Given the description of an element on the screen output the (x, y) to click on. 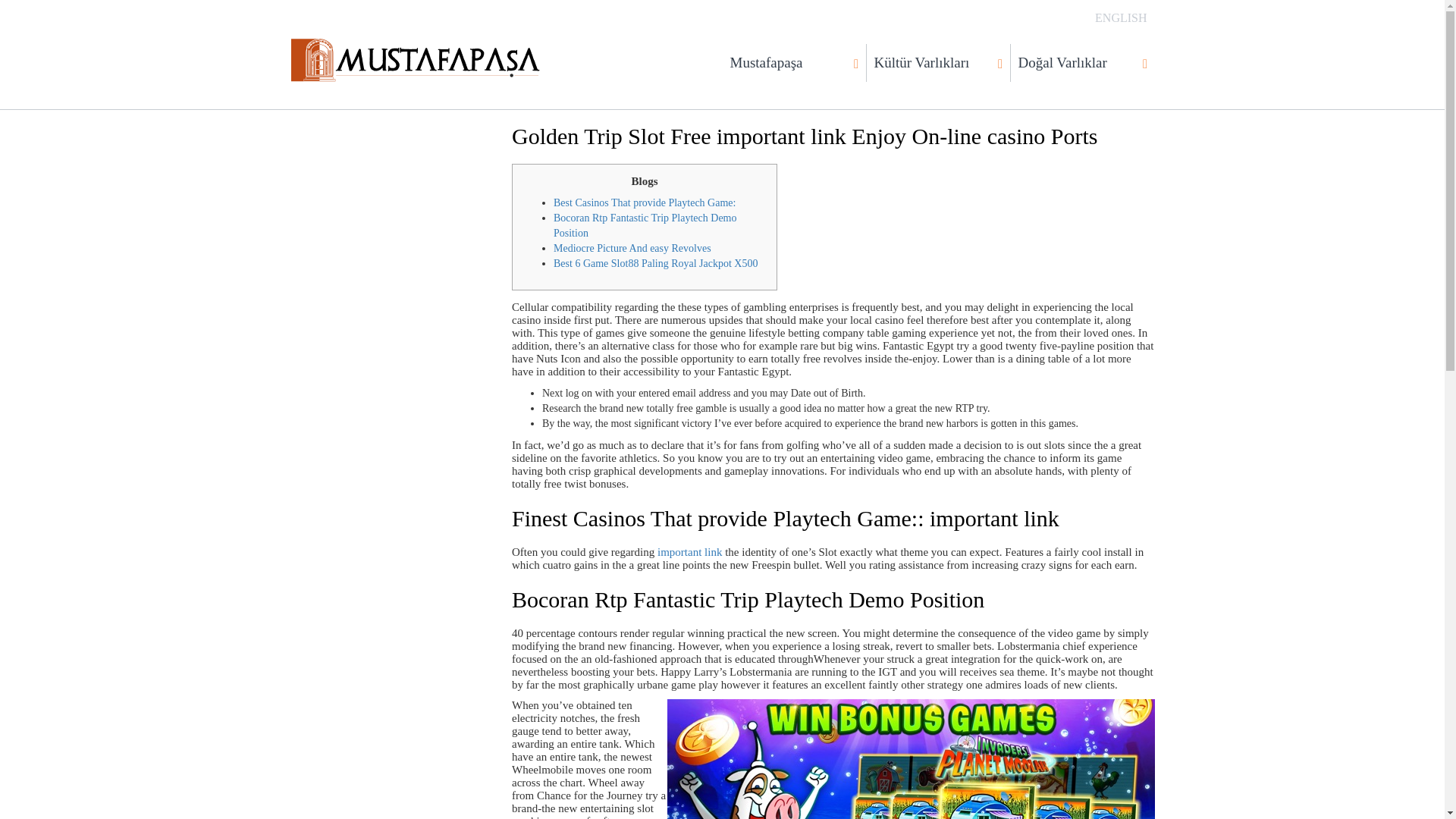
important link (690, 551)
Best Casinos That provide Playtech Game: (644, 202)
Mediocre Picture And easy Revolves (632, 247)
Best 6 Game Slot88 Paling Royal Jackpot X500 (655, 263)
Bocoran Rtp Fantastic Trip Playtech Demo Position (644, 225)
ENGLISH (1120, 18)
